Given the description of an element on the screen output the (x, y) to click on. 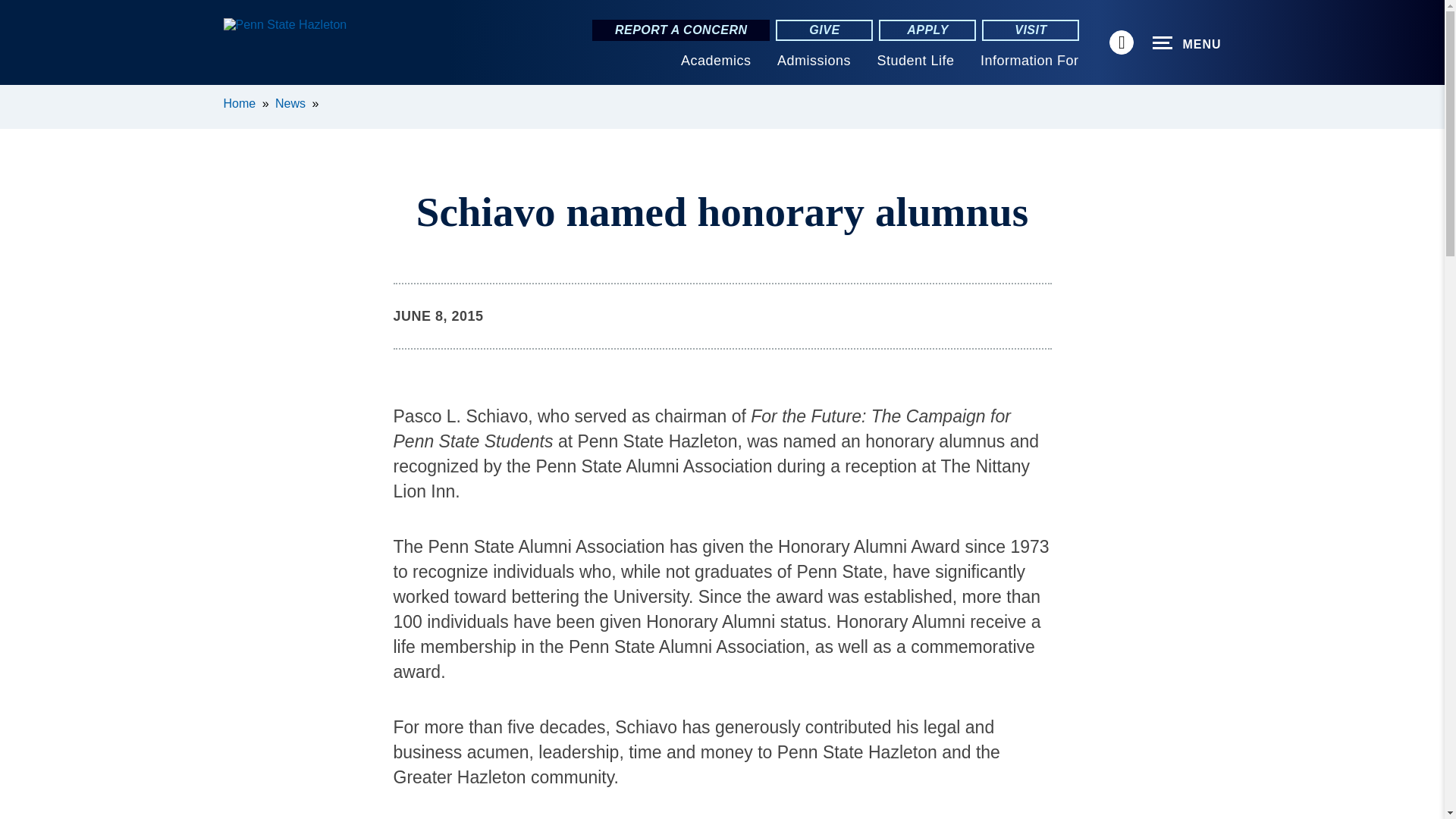
GIVE (824, 29)
APPLY (927, 29)
Academics (716, 60)
Admission (813, 60)
Academics (716, 60)
Information For (1028, 60)
Student Life (914, 60)
REPORT A CONCERN (681, 29)
VISIT (1029, 29)
Admissions (813, 60)
